Given the description of an element on the screen output the (x, y) to click on. 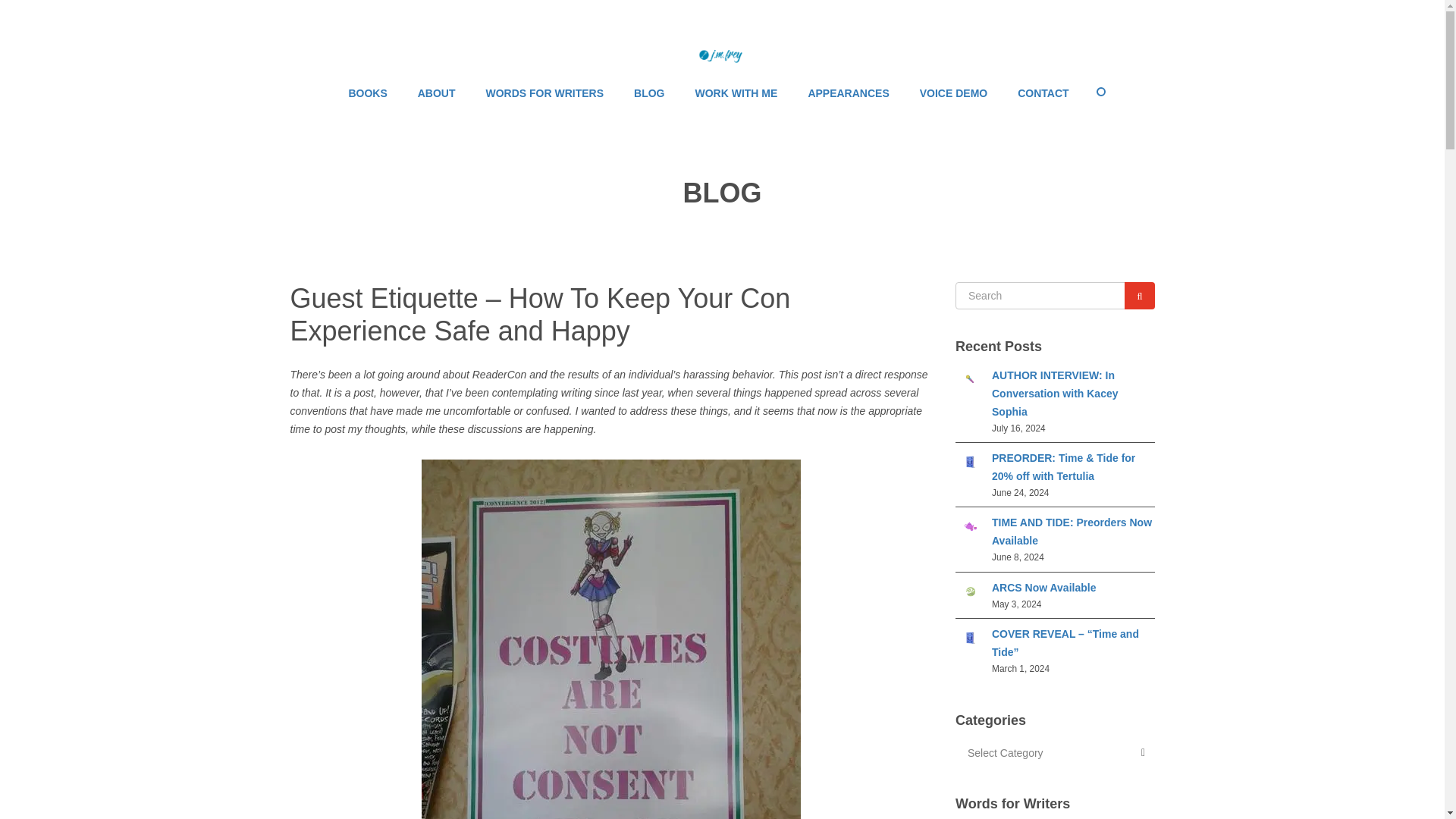
VOICE DEMO (953, 93)
AUTHOR INTERVIEW: In Conversation with Kacey Sophia (970, 381)
TIME AND TIDE: Preorders Now Available (1071, 531)
APPEARANCES (848, 93)
WORK WITH ME (735, 93)
ABOUT (436, 93)
Search (1139, 295)
AUTHOR INTERVIEW: In Conversation with Kacey Sophia (1054, 392)
TIME AND TIDE: Preorders Now Available (1071, 531)
TIME AND TIDE: Preorders Now Available (970, 530)
AUTHOR INTERVIEW: In Conversation with Kacey Sophia (1054, 392)
ARCS Now Available (1043, 587)
ARCS Now Available (970, 594)
BLOG (648, 93)
ARCS Now Available (1043, 587)
